Given the description of an element on the screen output the (x, y) to click on. 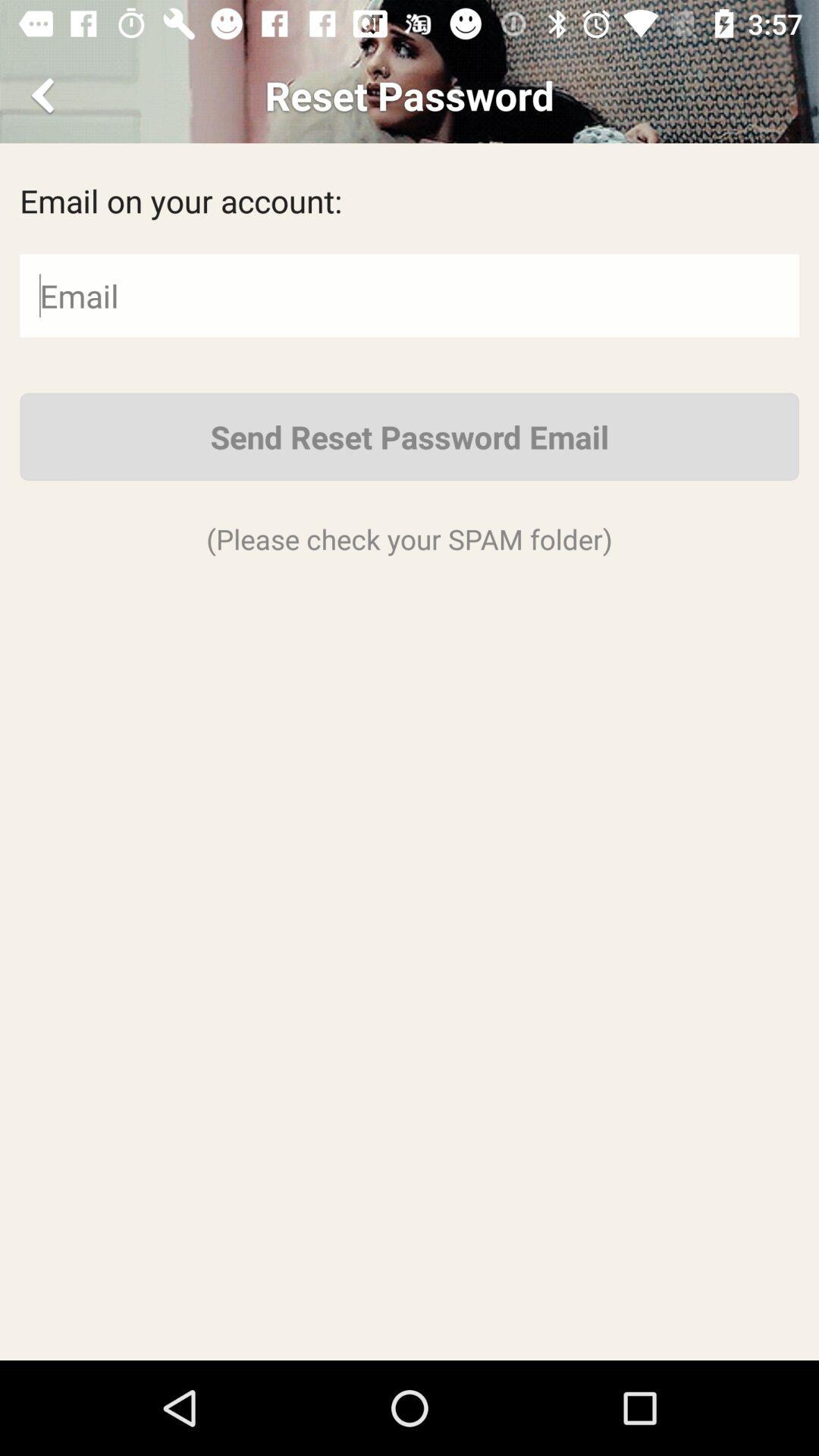
email (409, 295)
